Given the description of an element on the screen output the (x, y) to click on. 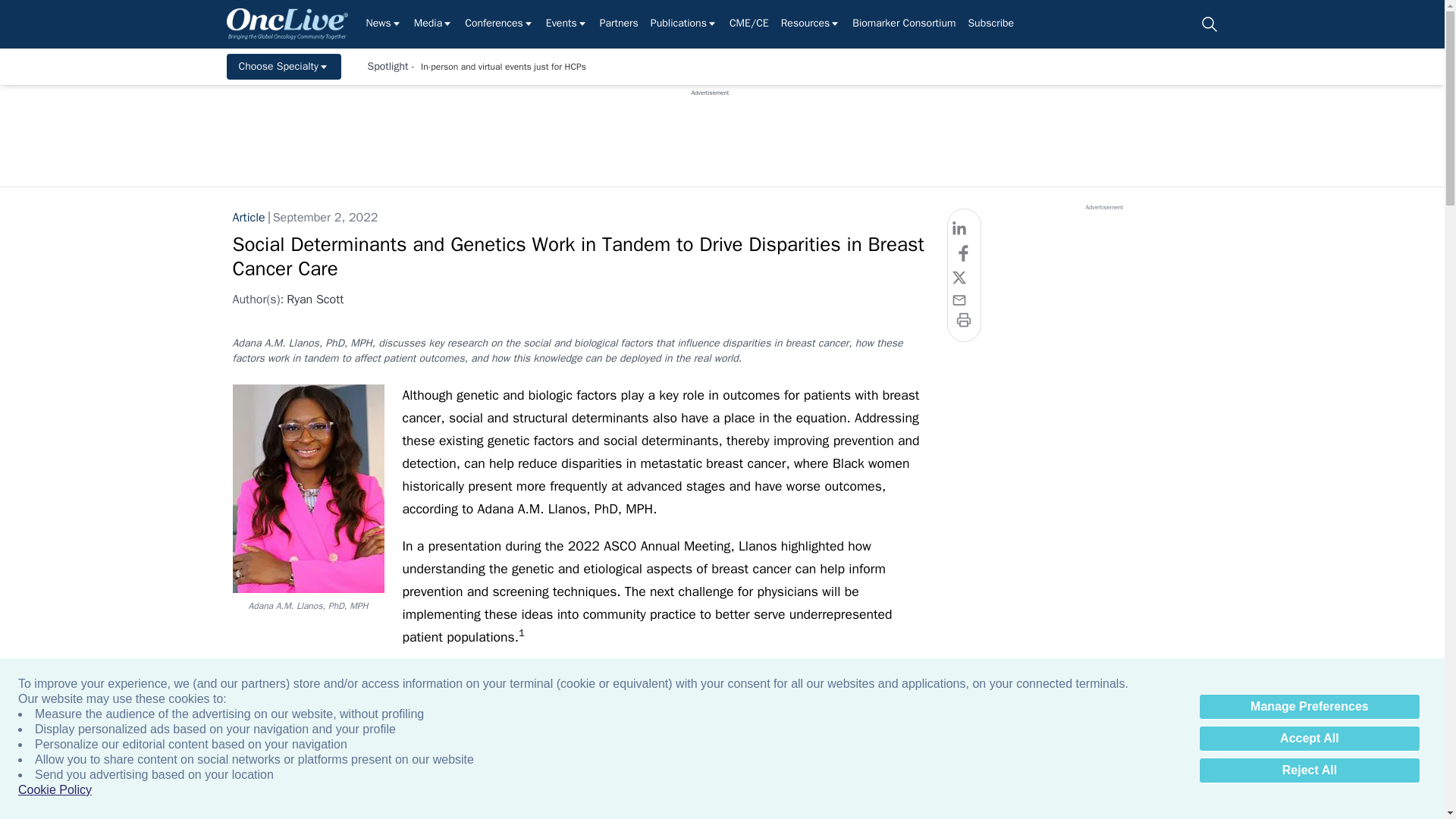
Publications (683, 23)
Accept All (1309, 738)
Cookie Policy (54, 789)
News (383, 23)
Reject All (1309, 769)
Conferences (499, 23)
Manage Preferences (1309, 706)
Media (432, 23)
Partners (619, 23)
Events (567, 23)
3rd party ad content (710, 131)
